Given the description of an element on the screen output the (x, y) to click on. 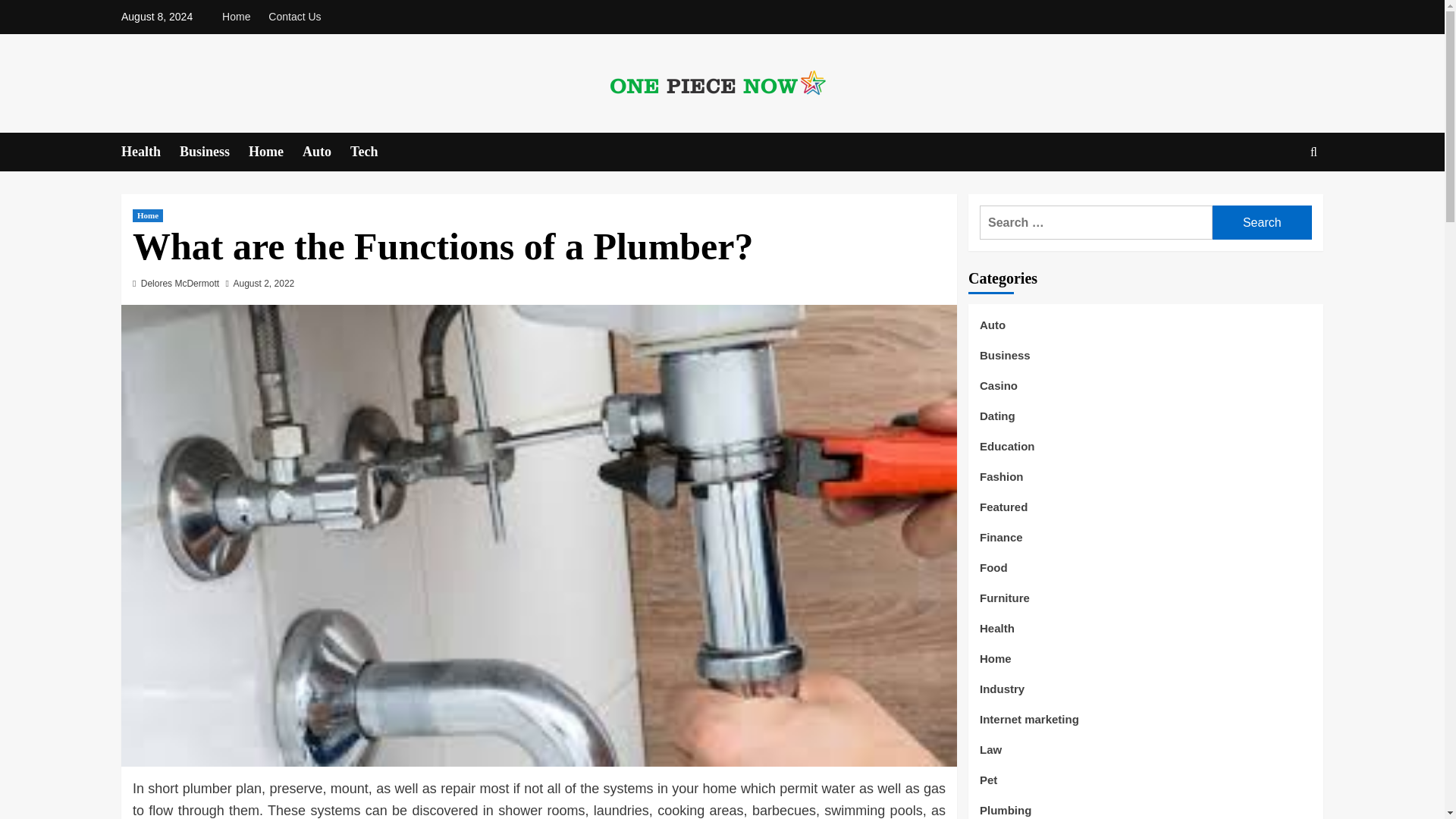
Search (1261, 222)
Contact Us (294, 17)
Home (239, 17)
Tech (373, 151)
August 2, 2022 (263, 283)
Home (147, 215)
Delores McDermott (180, 283)
Auto (326, 151)
Home (275, 151)
Health (149, 151)
Search (1261, 222)
Search (1278, 198)
Business (213, 151)
